Given the description of an element on the screen output the (x, y) to click on. 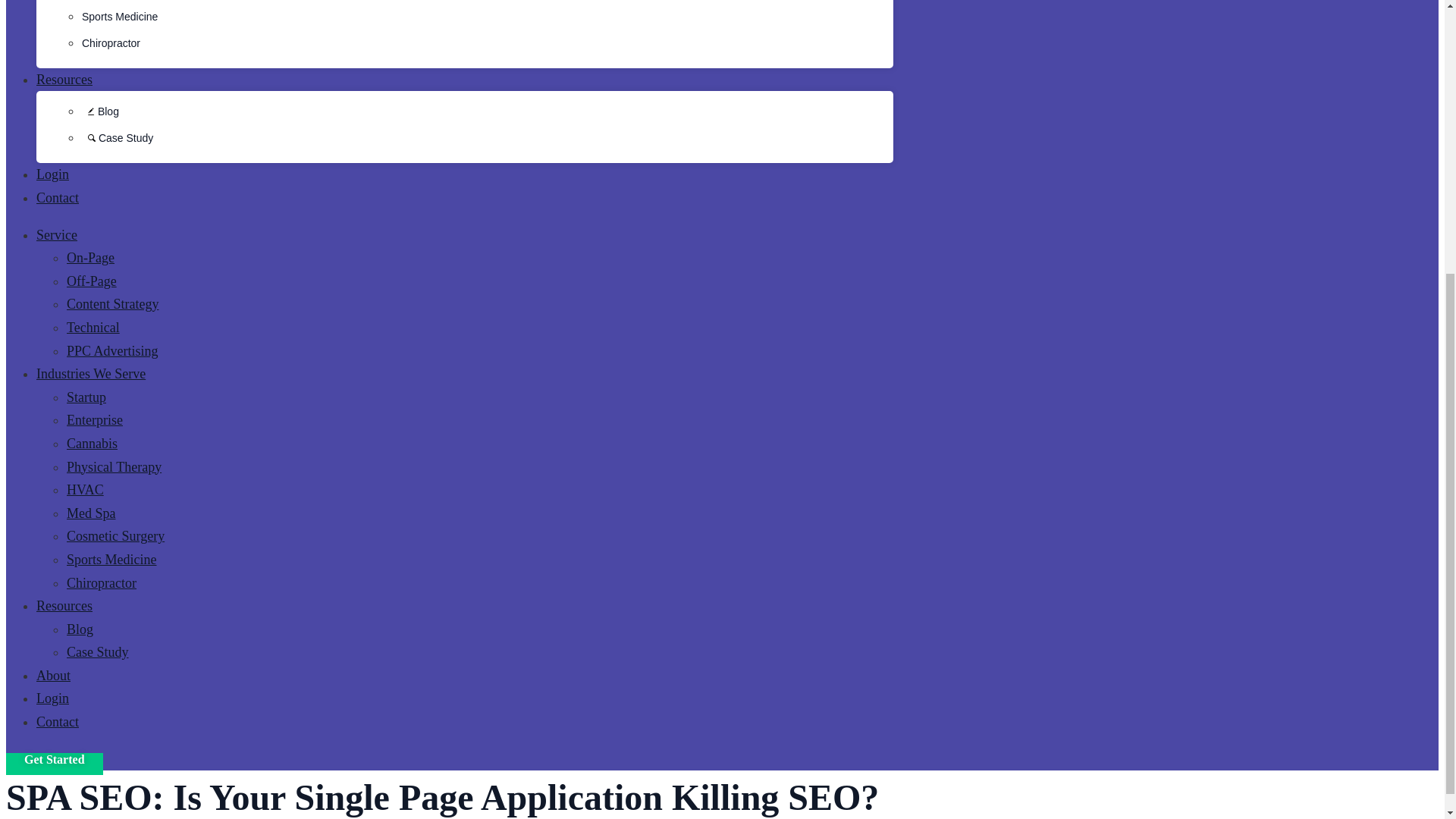
Contact (57, 197)
Blog (100, 111)
Content Strategy (112, 304)
Med Spa (91, 513)
Resources (64, 605)
Resources (64, 79)
Login (52, 174)
PPC Advertising (112, 350)
Startup (86, 396)
Service (56, 234)
Off-Page (91, 281)
Case Study (116, 137)
Chiropractor (101, 581)
Sports Medicine (119, 16)
Technical (92, 327)
